Given the description of an element on the screen output the (x, y) to click on. 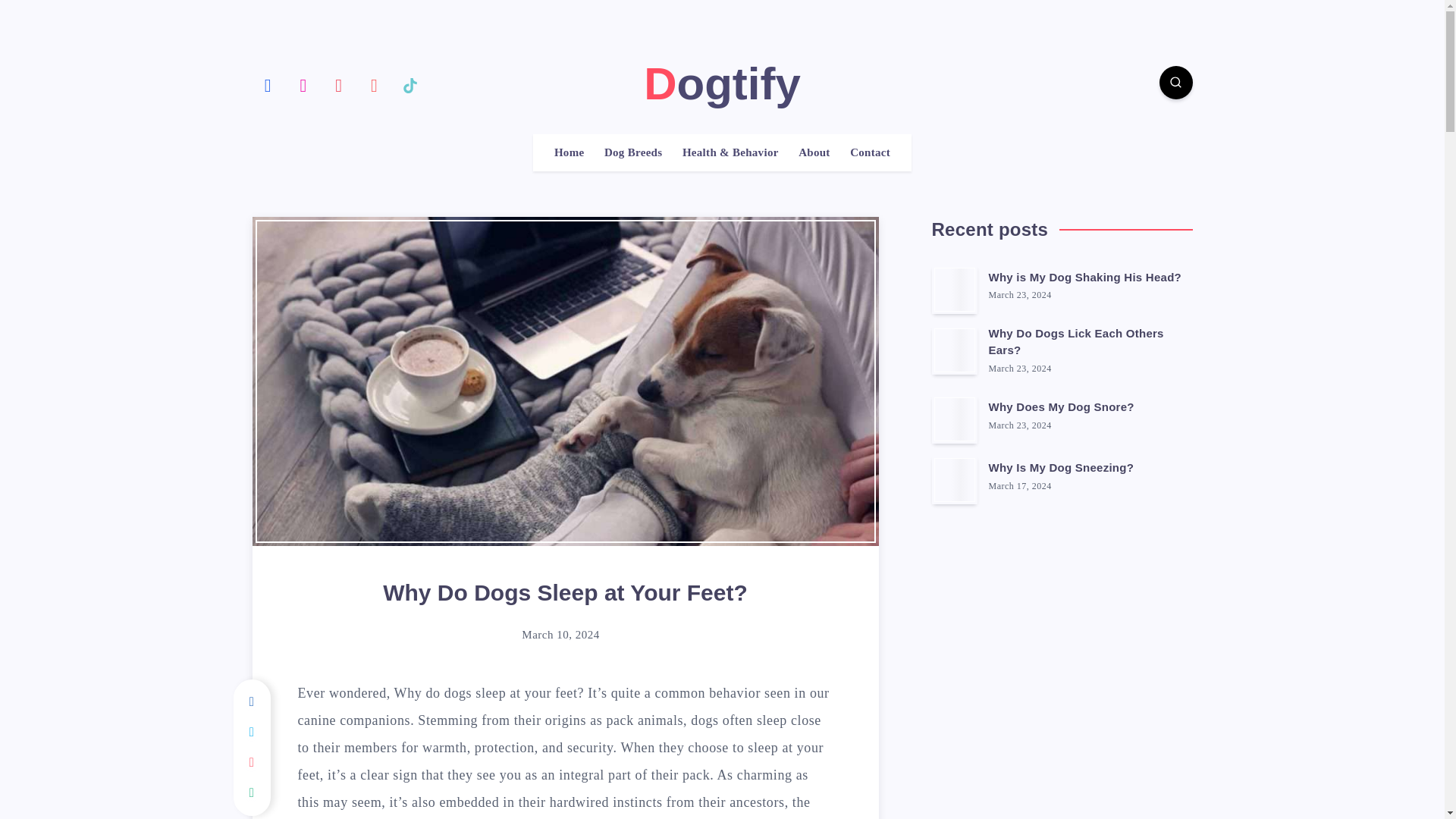
Contact (869, 152)
Dog Breeds (633, 152)
Home (569, 152)
About (813, 152)
Dogtify (721, 83)
